Given the description of an element on the screen output the (x, y) to click on. 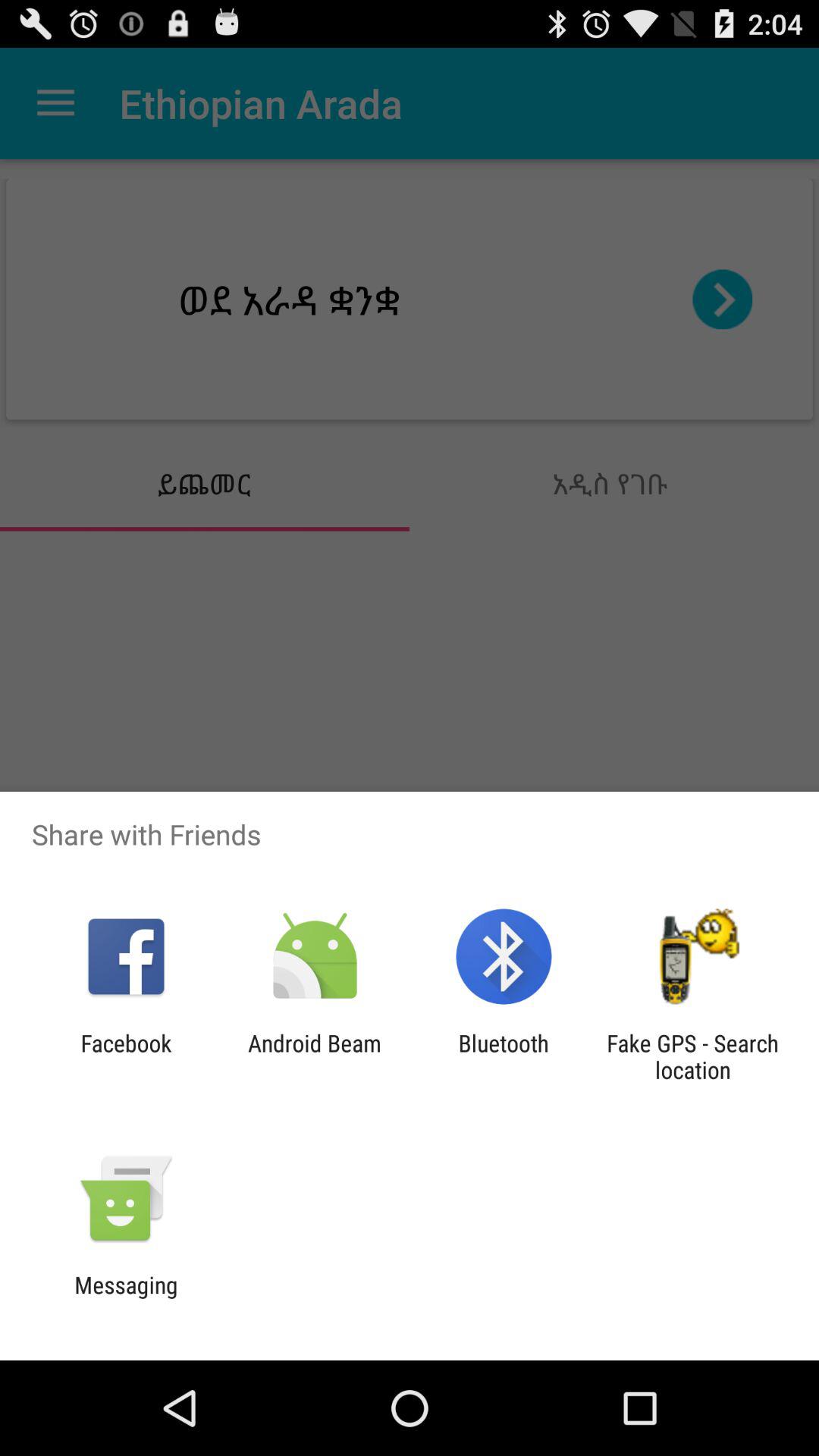
choose item next to facebook icon (314, 1056)
